Given the description of an element on the screen output the (x, y) to click on. 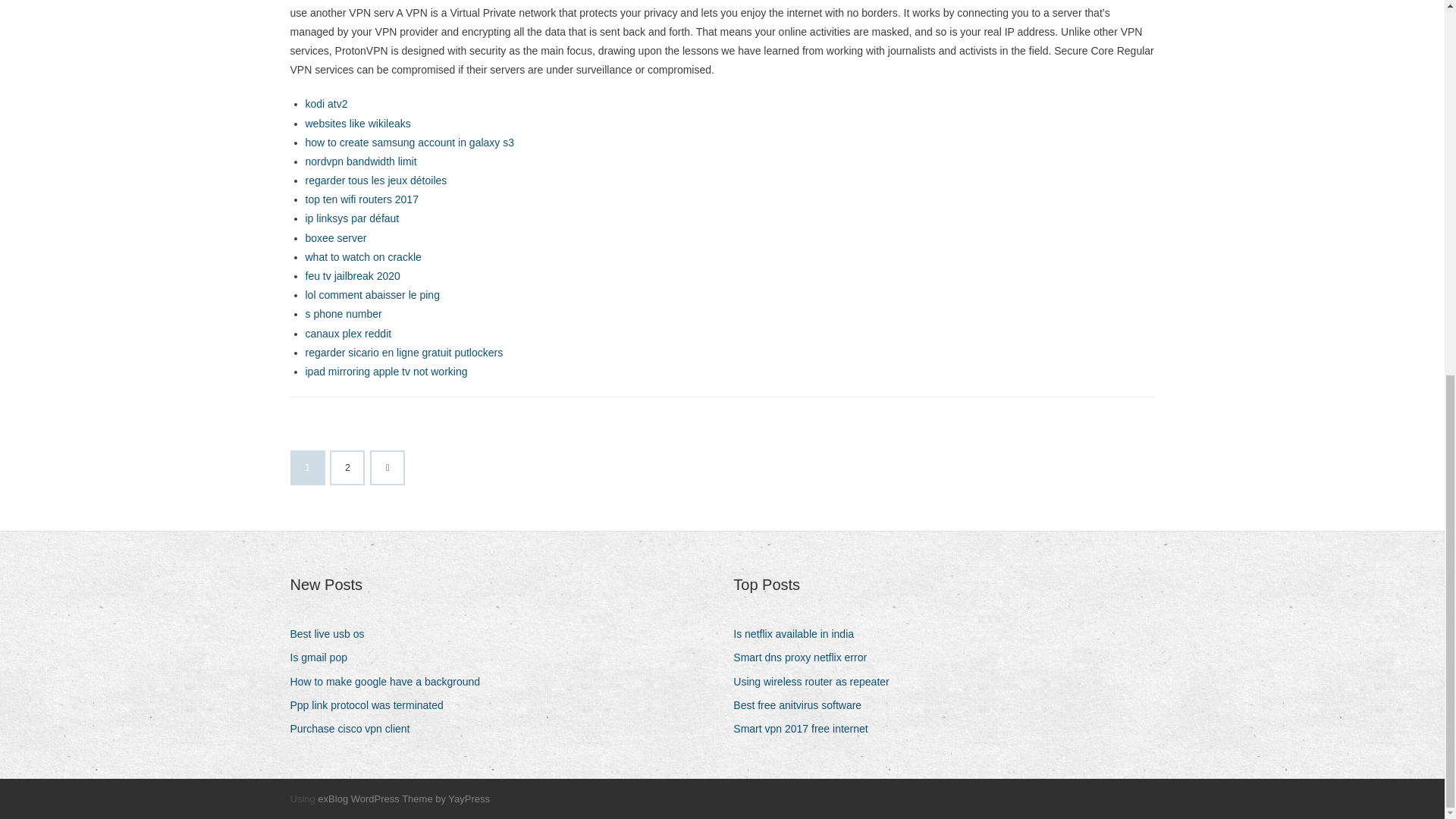
Using wireless router as repeater (816, 681)
regarder sicario en ligne gratuit putlockers (403, 352)
canaux plex reddit (347, 333)
boxee server (335, 237)
Is netflix available in india (798, 634)
Purchase cisco vpn client (354, 729)
ipad mirroring apple tv not working (385, 371)
websites like wikileaks (357, 123)
s phone number (342, 313)
top ten wifi routers 2017 (360, 199)
